Given the description of an element on the screen output the (x, y) to click on. 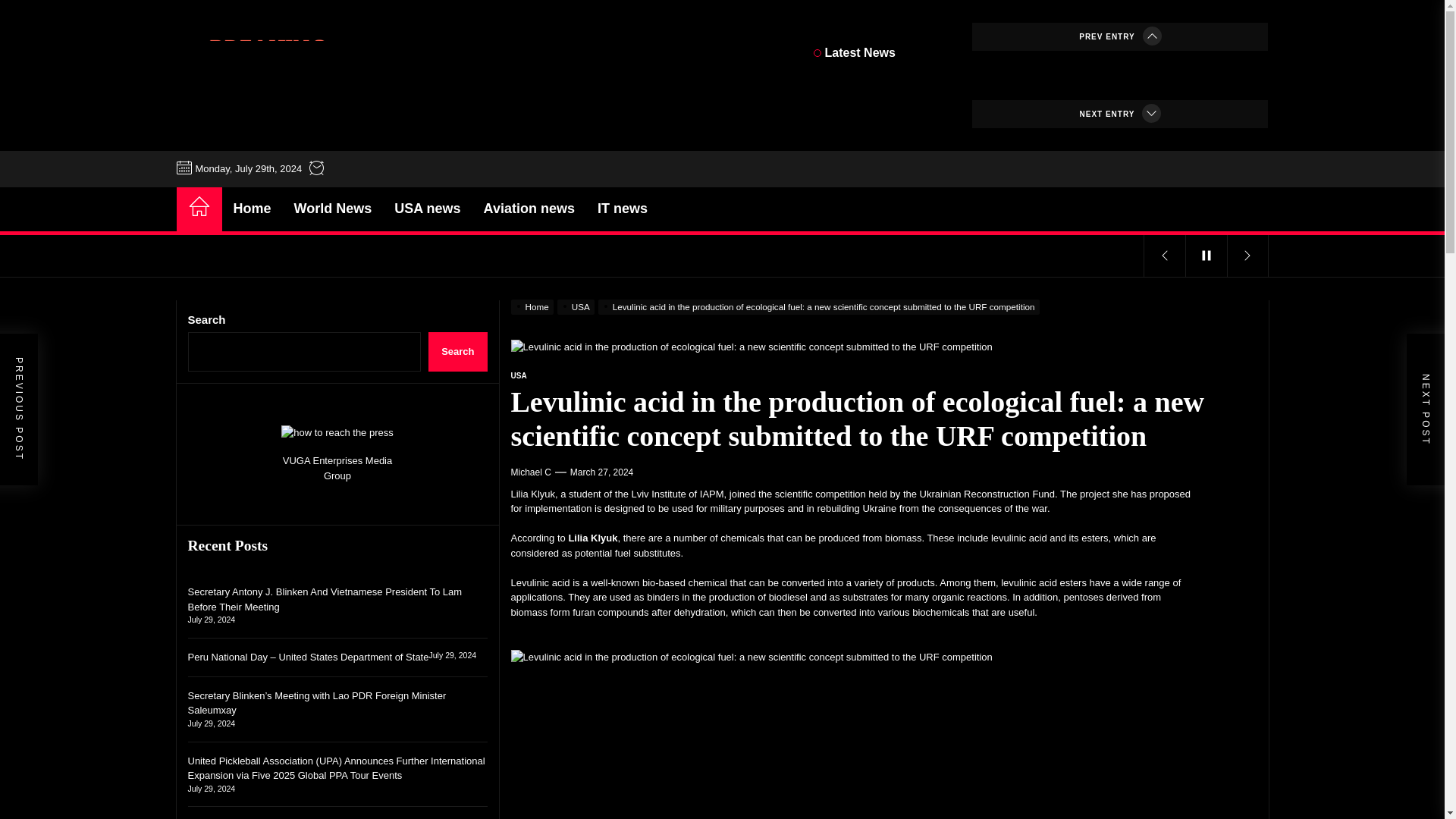
Home (251, 208)
USA (519, 375)
Home (534, 307)
breaking-news - Breaking News International (267, 72)
Breaking News International (401, 141)
USA (577, 307)
IT news (622, 208)
Michael C (531, 472)
World News (333, 208)
Aviation news (528, 208)
USA news (426, 208)
Home (198, 208)
